Given the description of an element on the screen output the (x, y) to click on. 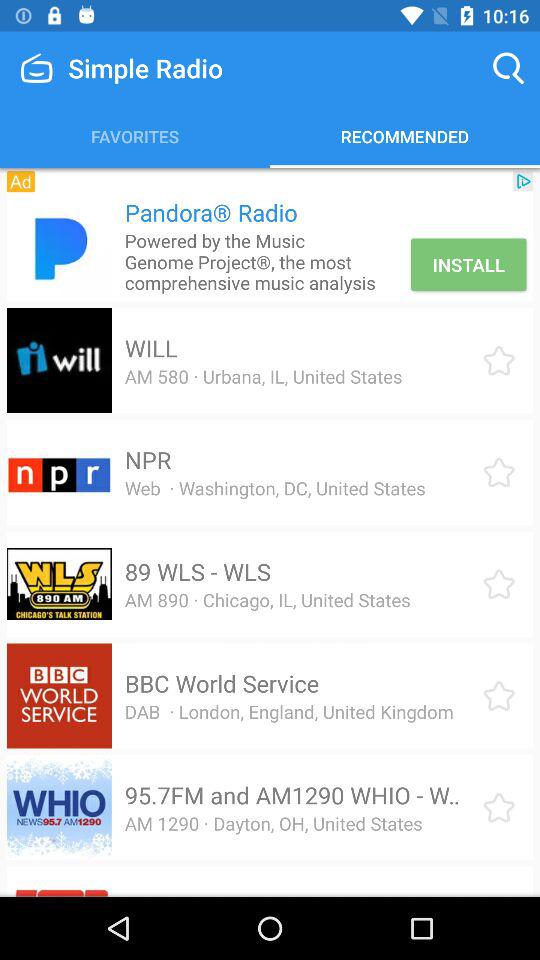
open item below npr (274, 487)
